Given the description of an element on the screen output the (x, y) to click on. 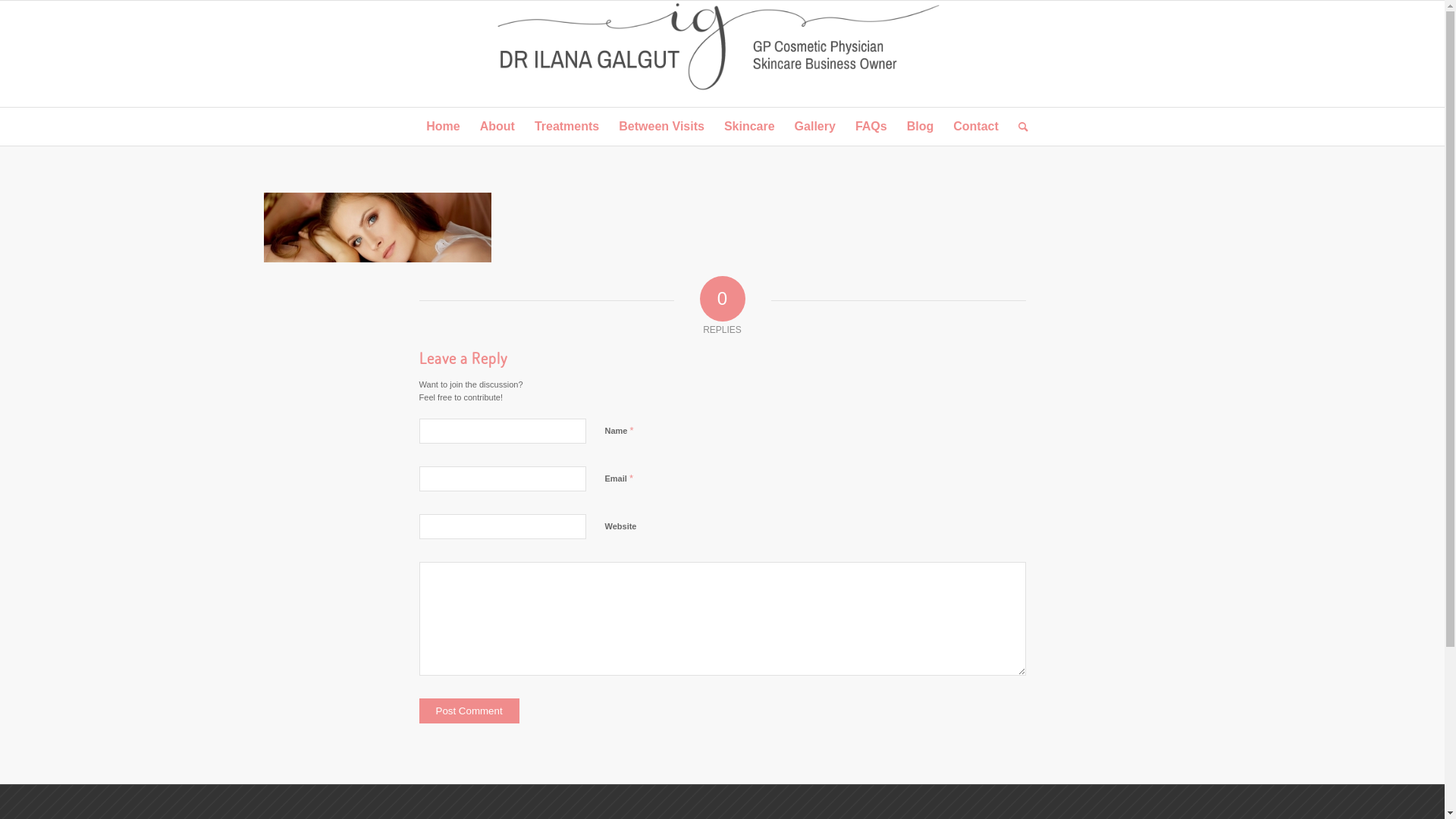
About Element type: text (497, 126)
Home Element type: text (442, 126)
Blog Element type: text (920, 126)
Post Comment Element type: text (468, 710)
Between Visits Element type: text (661, 126)
Logo7 Element type: hover (721, 47)
Contact Element type: text (975, 126)
Skincare Element type: text (749, 126)
Gallery Element type: text (814, 126)
FAQs Element type: text (871, 126)
Treatments Element type: text (566, 126)
Logo7 Element type: hover (721, 53)
